Given the description of an element on the screen output the (x, y) to click on. 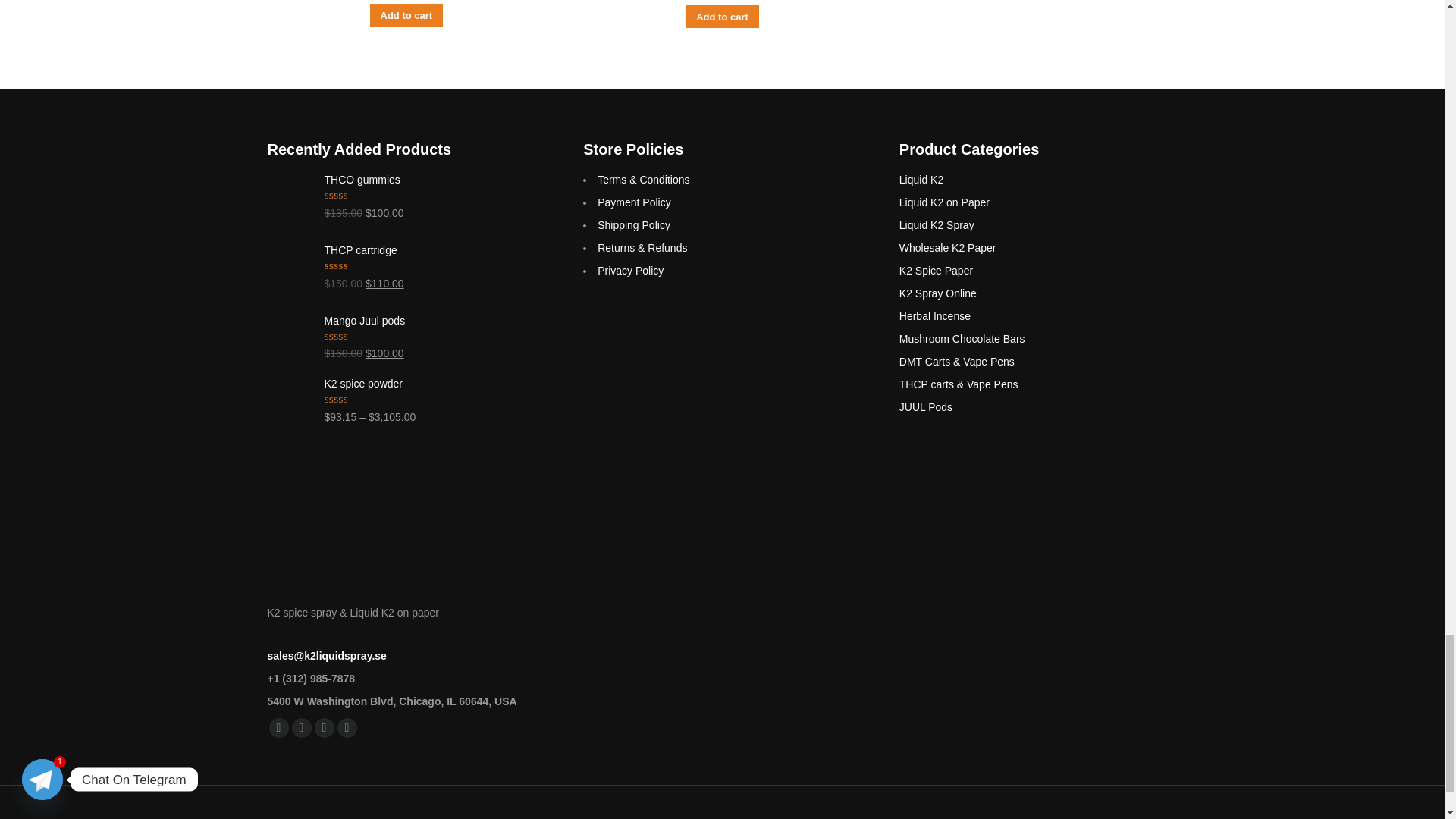
Facebook page opens in new window (277, 727)
X page opens in new window (301, 727)
